Given the description of an element on the screen output the (x, y) to click on. 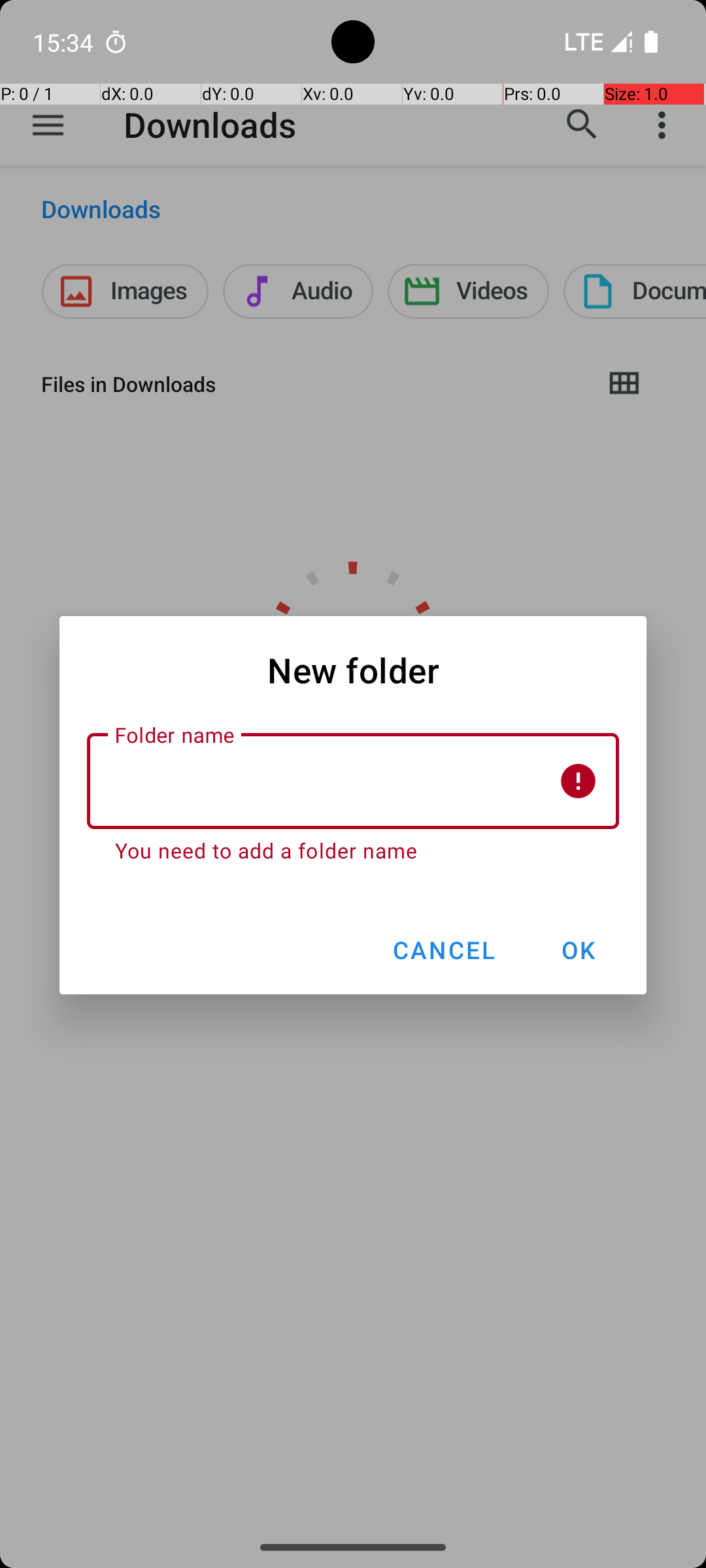
New folder Element type: android.widget.TextView (352, 669)
Folder name Element type: android.widget.EditText (352, 781)
You need to add a folder name Element type: android.widget.TextView (352, 850)
